Given the description of an element on the screen output the (x, y) to click on. 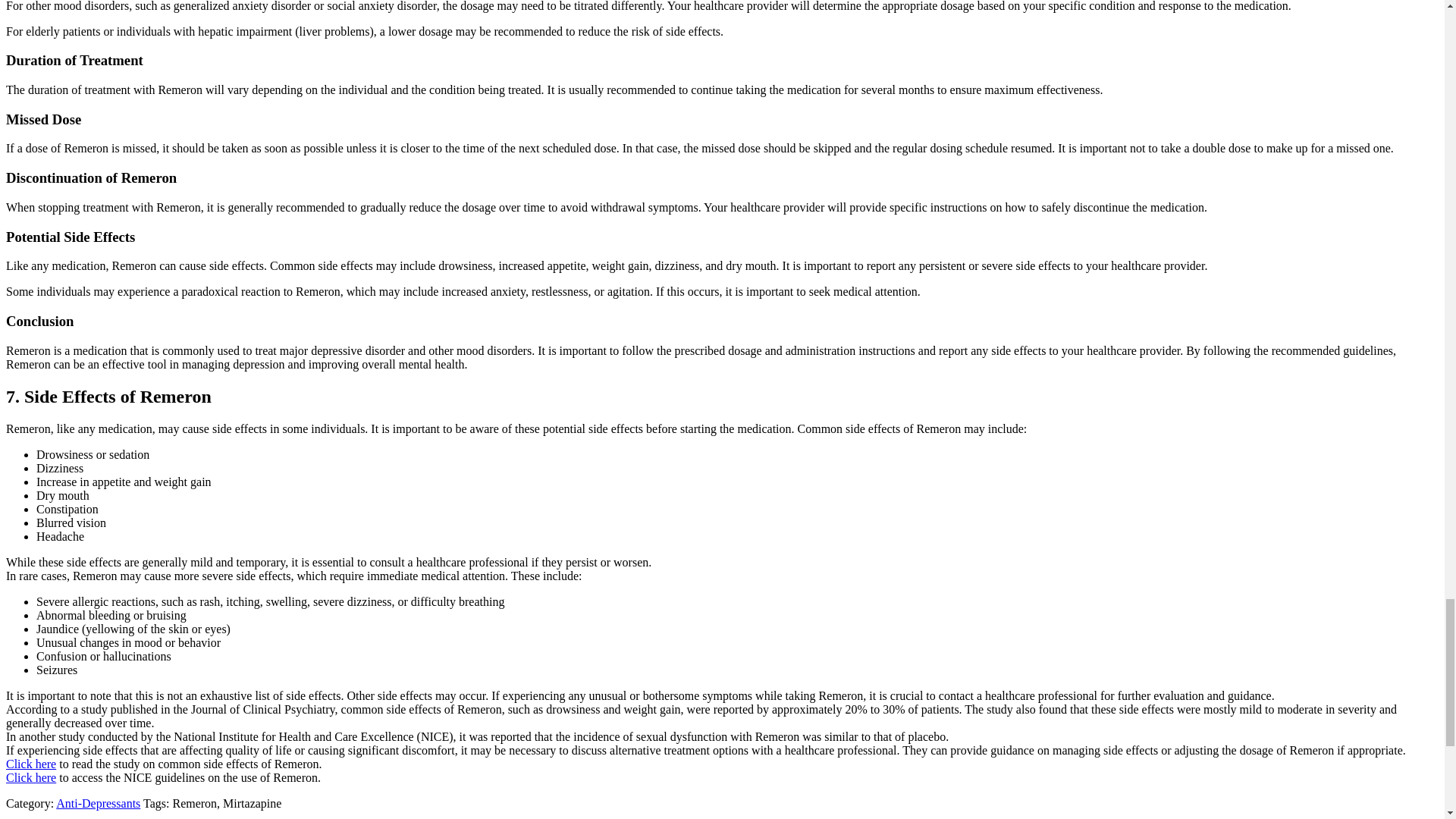
Click here (30, 763)
Click here (30, 777)
Anti-Depressants (97, 802)
